Given the description of an element on the screen output the (x, y) to click on. 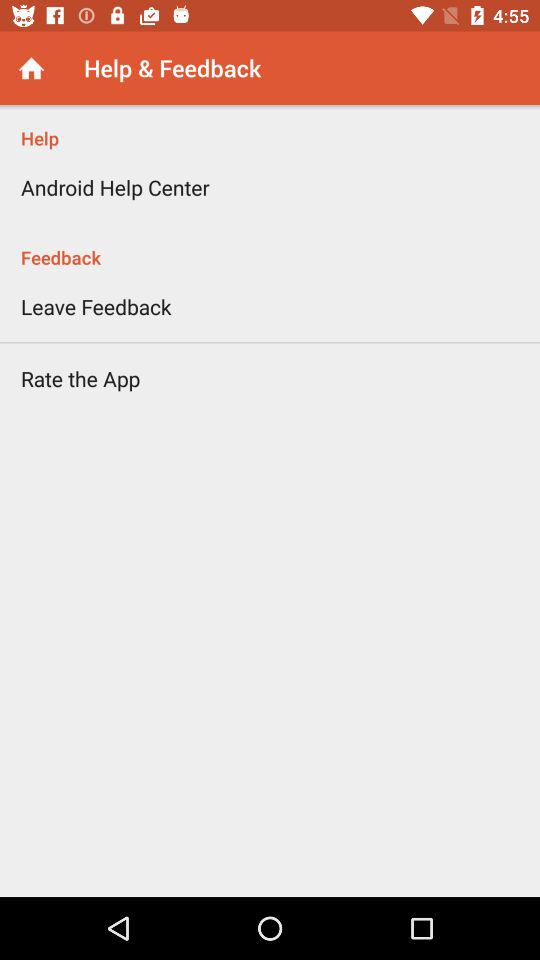
tap the item above the help item (31, 68)
